Given the description of an element on the screen output the (x, y) to click on. 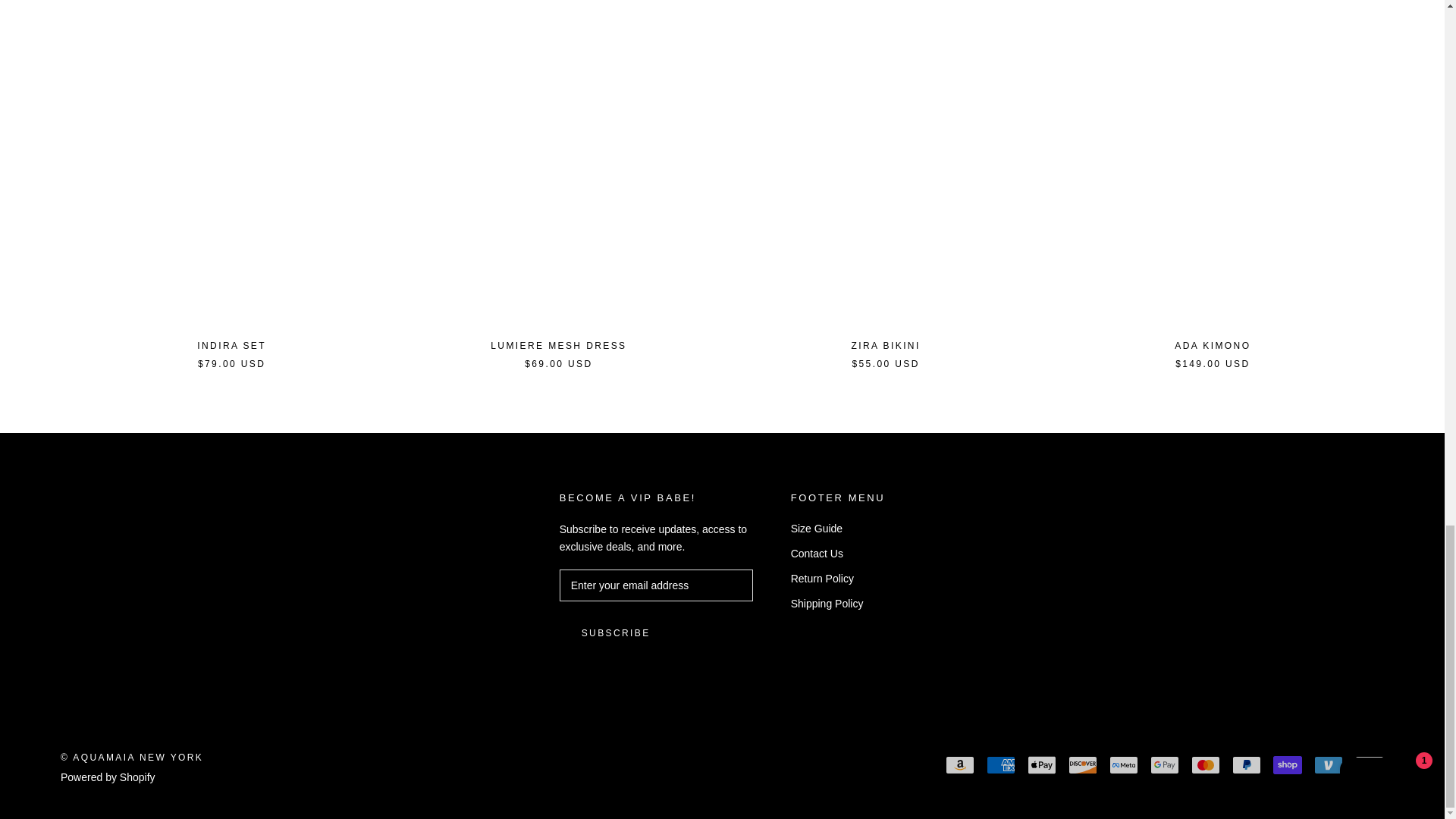
Amazon (959, 764)
Meta Pay (1123, 764)
Google Pay (1164, 764)
Discover (1082, 764)
Apple Pay (1042, 764)
PayPal (1245, 764)
Shop Pay (1286, 764)
Mastercard (1205, 764)
American Express (1000, 764)
